Given the description of an element on the screen output the (x, y) to click on. 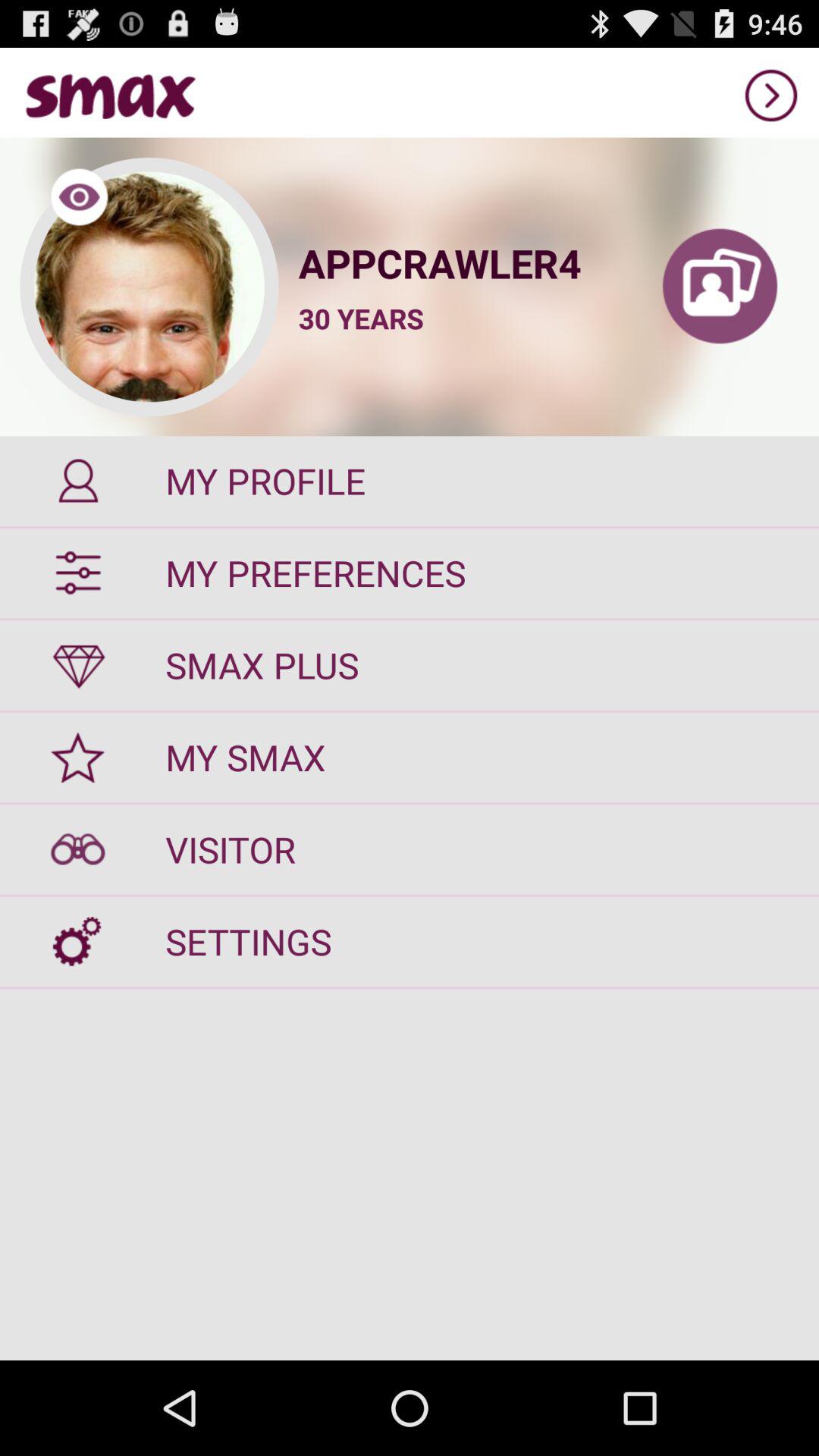
scroll to the settings icon (409, 941)
